Given the description of an element on the screen output the (x, y) to click on. 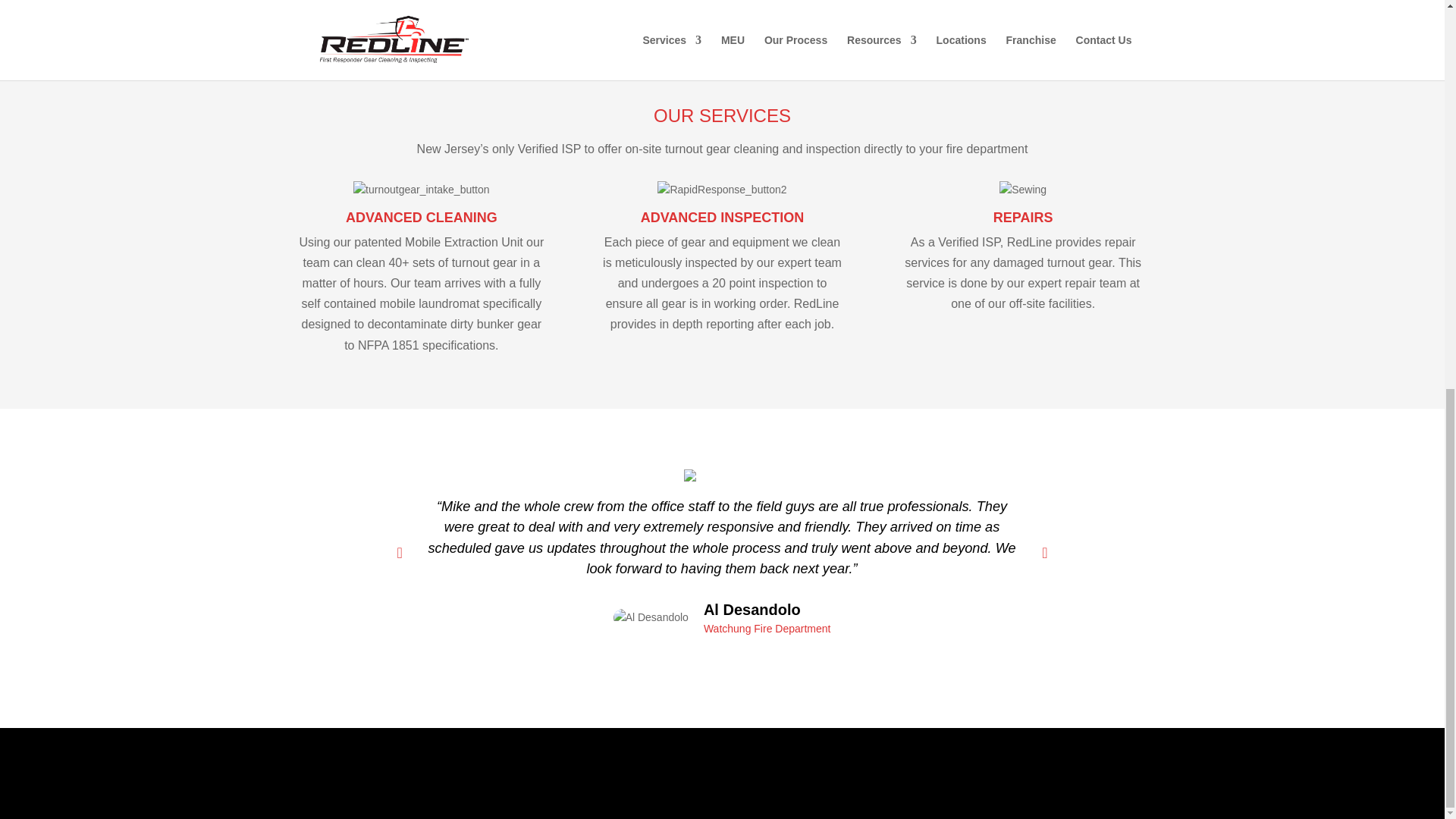
Sewing (1022, 189)
